Given the description of an element on the screen output the (x, y) to click on. 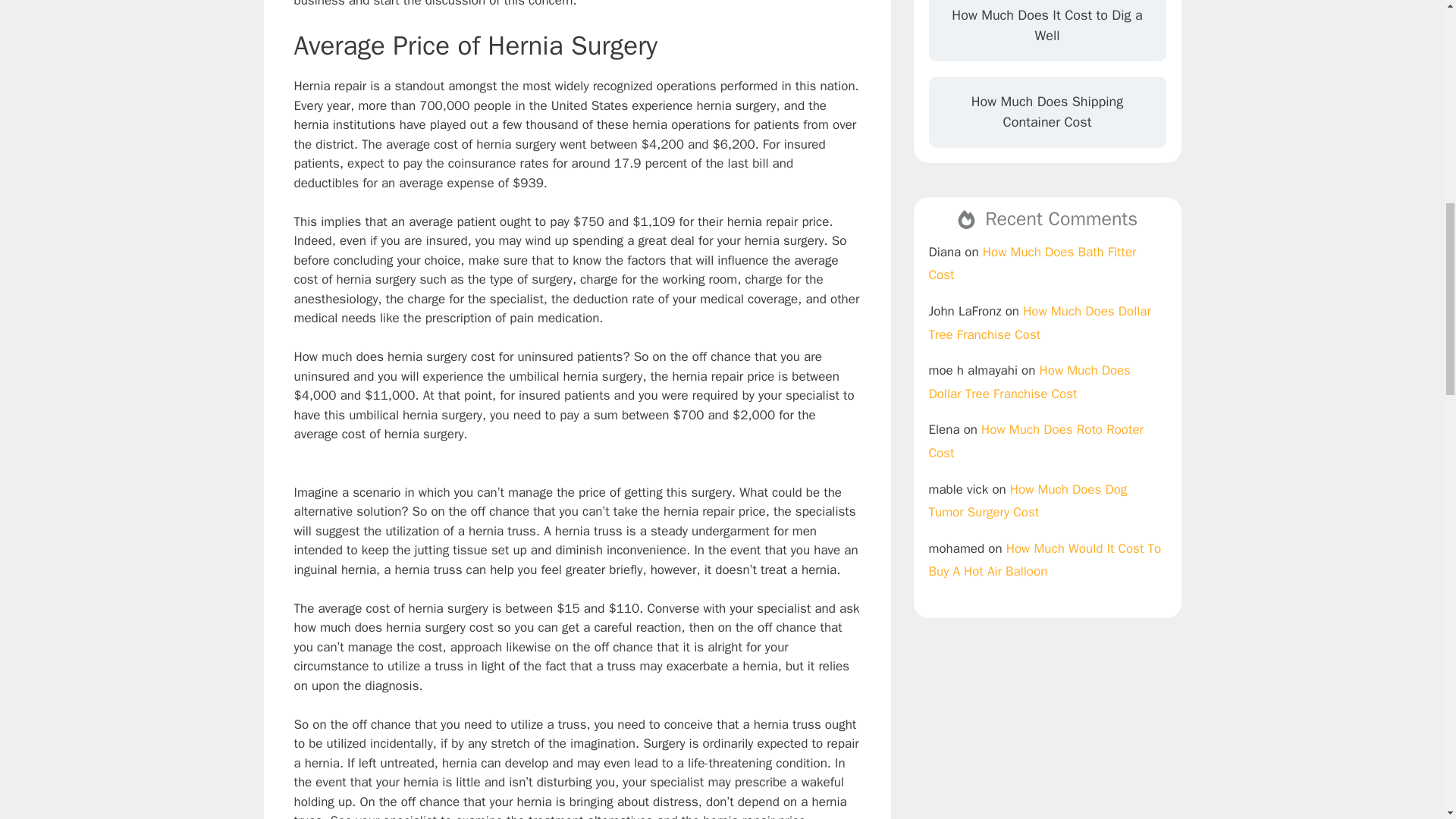
How Much Does Dollar Tree Franchise Cost (1039, 323)
How Much Does Dollar Tree Franchise Cost (1029, 382)
How Much Does Bath Fitter Cost (1031, 263)
How Much Does Dog Tumor Surgery Cost (1027, 500)
How Much Does Roto Rooter Cost (1035, 441)
